Given the description of an element on the screen output the (x, y) to click on. 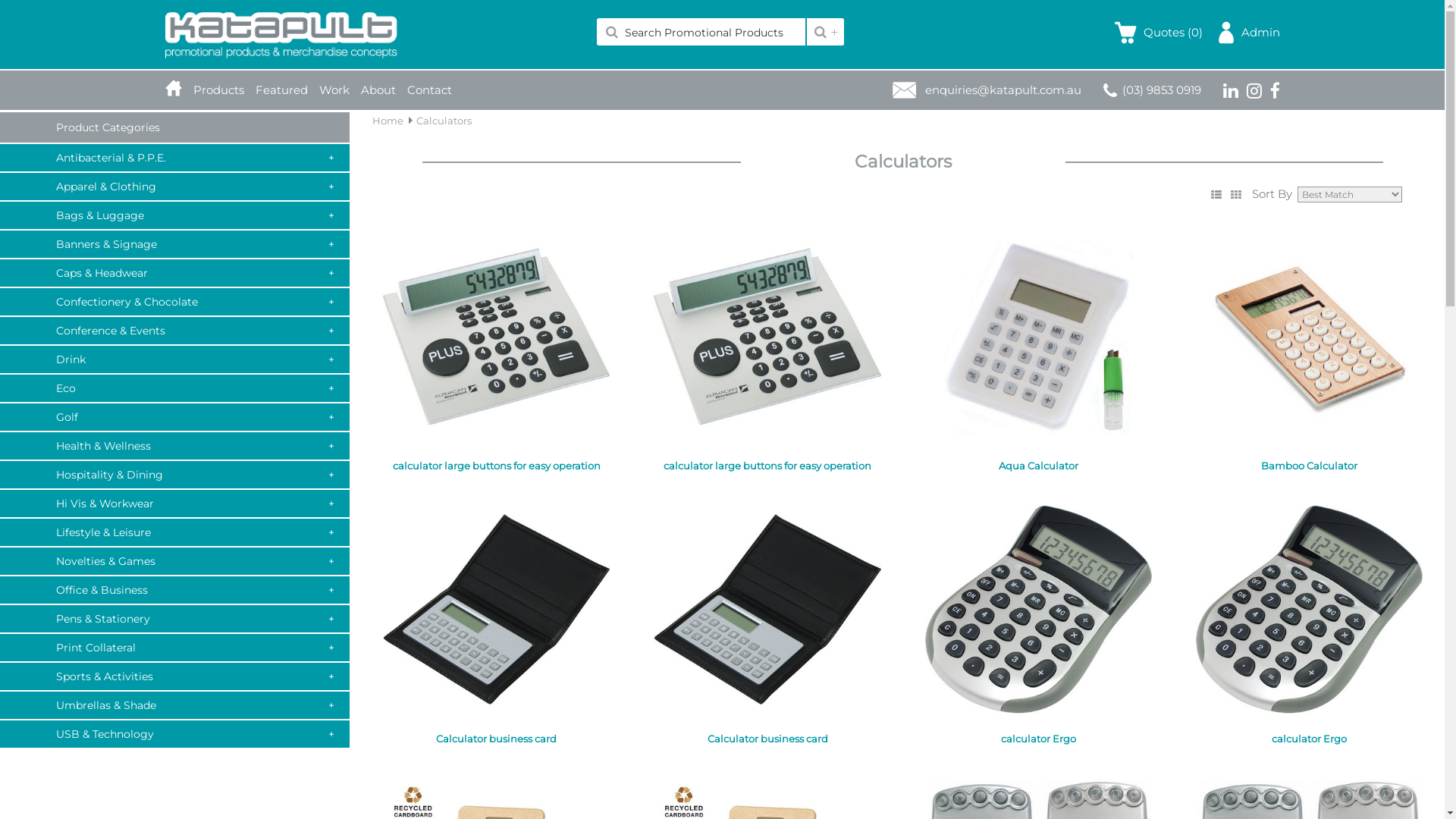
Conference & Events Element type: text (173, 330)
Calculator business card  Element type: hover (495, 608)
Print Collateral Element type: text (173, 647)
Featured Element type: text (280, 90)
Novelties & Games Element type: text (173, 560)
About Element type: text (377, 90)
Sports & Activities Element type: text (173, 676)
Hi Vis & Workwear Element type: text (173, 503)
Product Categories Element type: text (108, 127)
(03) 9853 0919 Element type: text (1151, 89)
calculator Ergo Element type: text (1038, 620)
calculator Ergo   Element type: hover (1308, 608)
calculator Ergo Element type: text (1309, 620)
calculator large buttons for easy operation Element type: text (767, 347)
Drink Element type: text (173, 359)
Thumb View Element type: hover (1235, 194)
calculator large buttons for easy operation Element type: text (496, 347)
Hospitality & Dining Element type: text (173, 474)
Calculator business card  Element type: hover (766, 608)
Eco Element type: text (173, 387)
Apparel & Clothing Element type: text (173, 186)
Admin Element type: text (1248, 33)
Caps & Headwear Element type: text (173, 272)
 calculator large buttons for easy operation   Element type: hover (495, 335)
Bamboo Calculator Element type: text (1309, 347)
Quotes (0) Element type: text (1165, 33)
Bamboo Calculator  Element type: hover (1308, 335)
Health & Wellness Element type: text (173, 445)
Products Element type: text (217, 90)
Aqua Calculator   Element type: hover (1038, 335)
Calculator business card Element type: text (767, 620)
Pens & Stationery Element type: text (173, 618)
calculator Ergo   Element type: hover (1038, 608)
Work Element type: text (333, 90)
Banners & Signage Element type: text (173, 243)
Contact Element type: text (428, 90)
Calculator business card Element type: text (496, 620)
Calculators Element type: text (443, 120)
Bags & Luggage Element type: text (173, 215)
Golf Element type: text (173, 416)
Detailed View Element type: hover (1216, 194)
Aqua Calculator Element type: text (1038, 347)
Office & Business Element type: text (173, 589)
Umbrellas & Shade Element type: text (173, 704)
USB & Technology Element type: text (173, 733)
 calculator large buttons for easy operation   Element type: hover (766, 335)
Lifestyle & Leisure Element type: text (173, 532)
Home Element type: text (387, 120)
Confectionery & Chocolate Element type: text (173, 301)
enquiries@katapult.com.au Element type: text (1003, 89)
Antibacterial & P.P.E. Element type: text (173, 157)
